Given the description of an element on the screen output the (x, y) to click on. 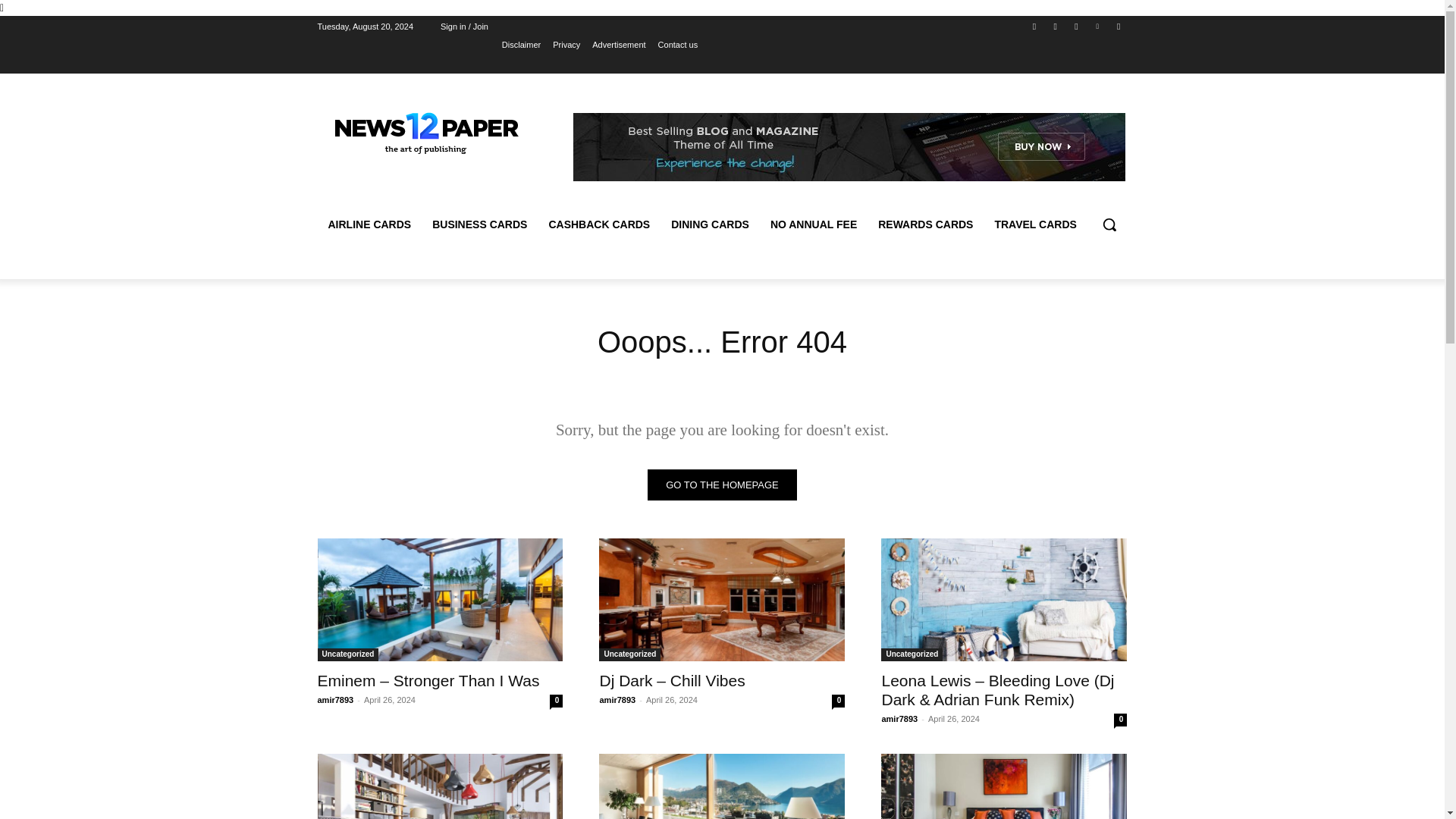
CASHBACK CARDS (599, 224)
BUSINESS CARDS (479, 224)
DINING CARDS (710, 224)
NO ANNUAL FEE (813, 224)
Contact us (678, 44)
Privacy (566, 44)
AIRLINE CARDS (369, 224)
Youtube (1117, 27)
Go to the homepage (721, 484)
REWARDS CARDS (925, 224)
